Given the description of an element on the screen output the (x, y) to click on. 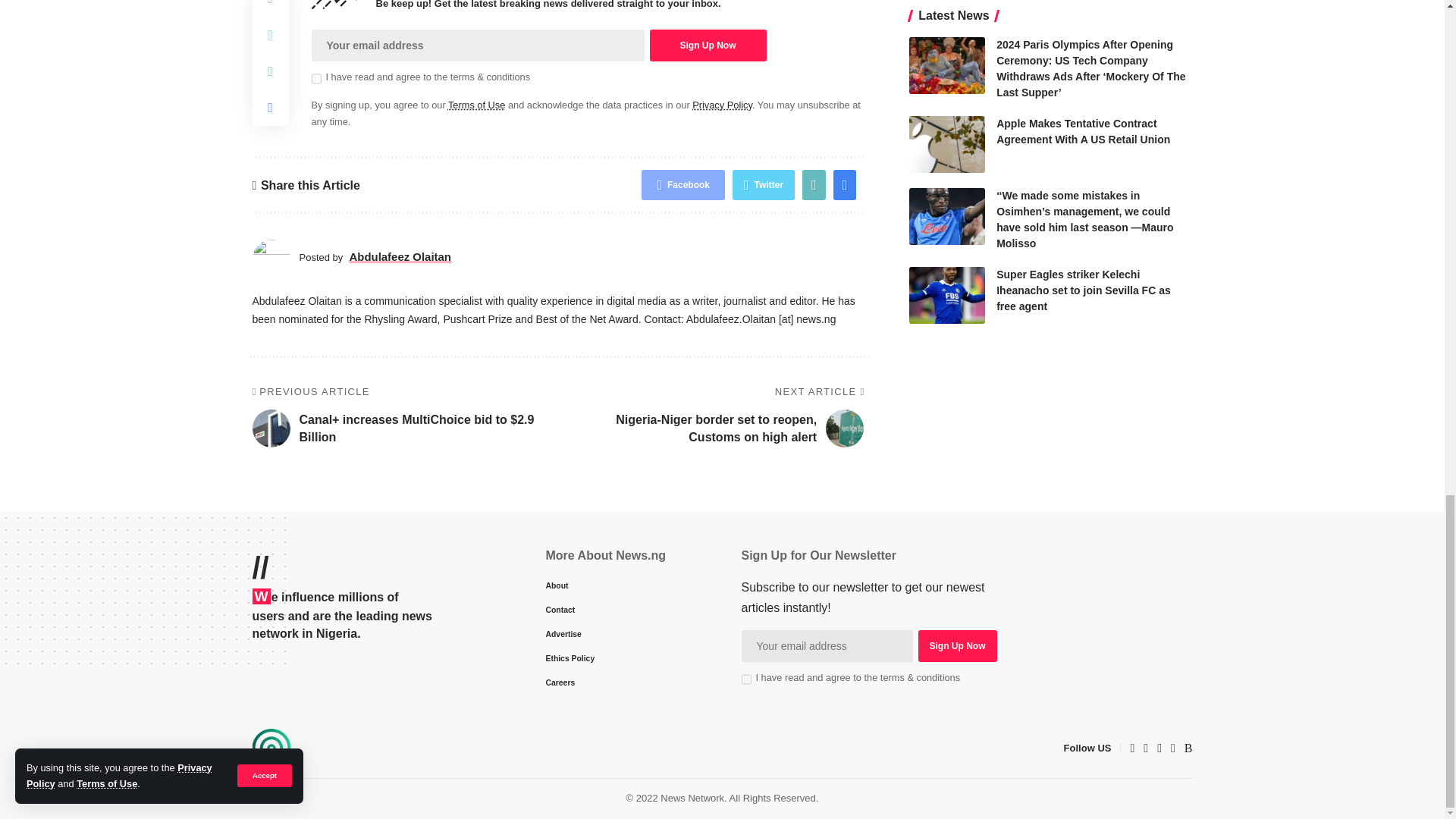
Sign Up Now (956, 645)
Sign Up Now (707, 45)
News.ng (270, 747)
